Given the description of an element on the screen output the (x, y) to click on. 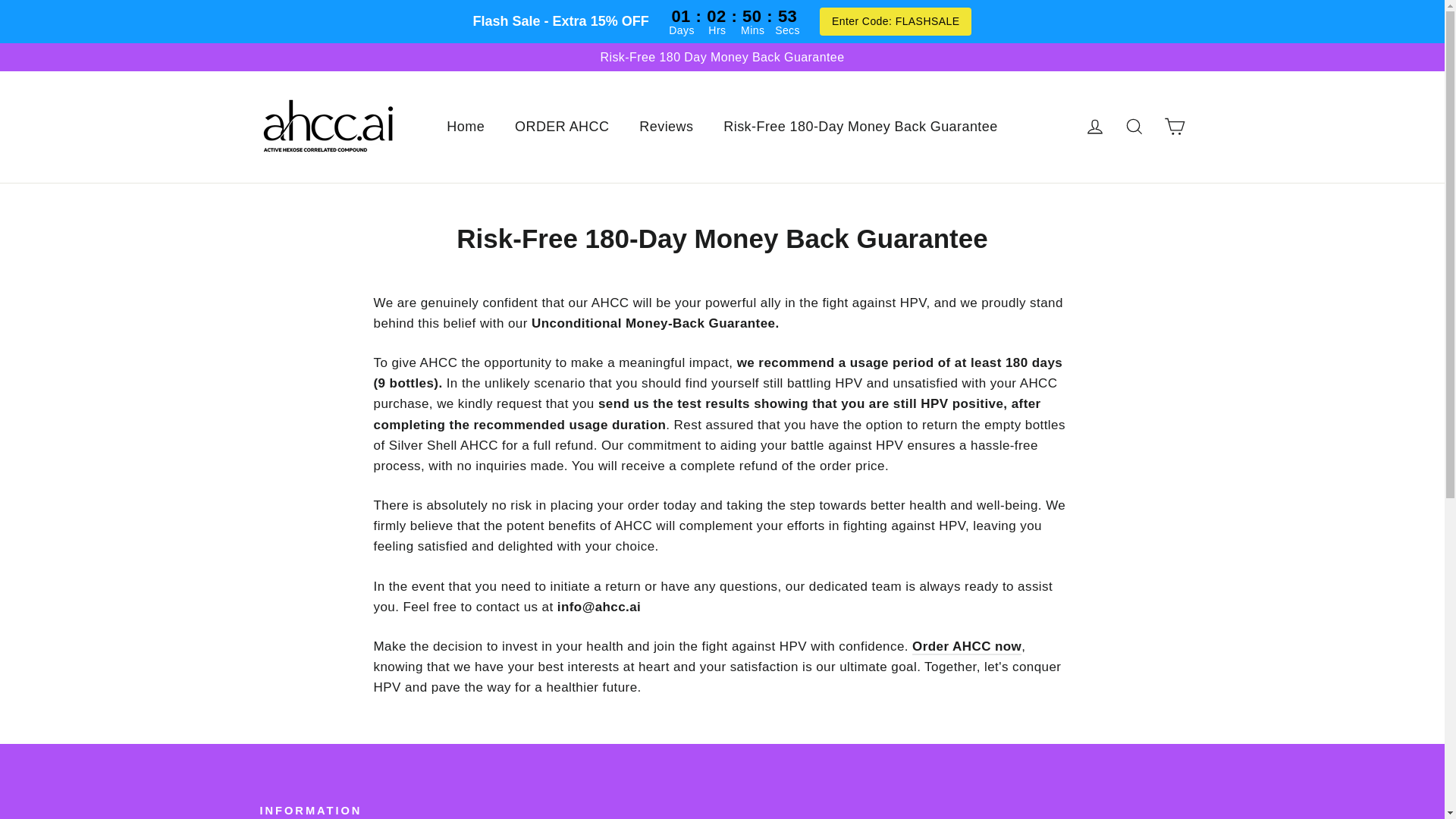
Home (464, 126)
account (1173, 126)
icon-cart (1094, 126)
Enter Code: FLASHSALE (1174, 126)
ORDER AHCC (1095, 126)
Order AHCC now (895, 21)
Risk-Free 180-Day Money Back Guarantee (561, 126)
Reviews (967, 647)
